Given the description of an element on the screen output the (x, y) to click on. 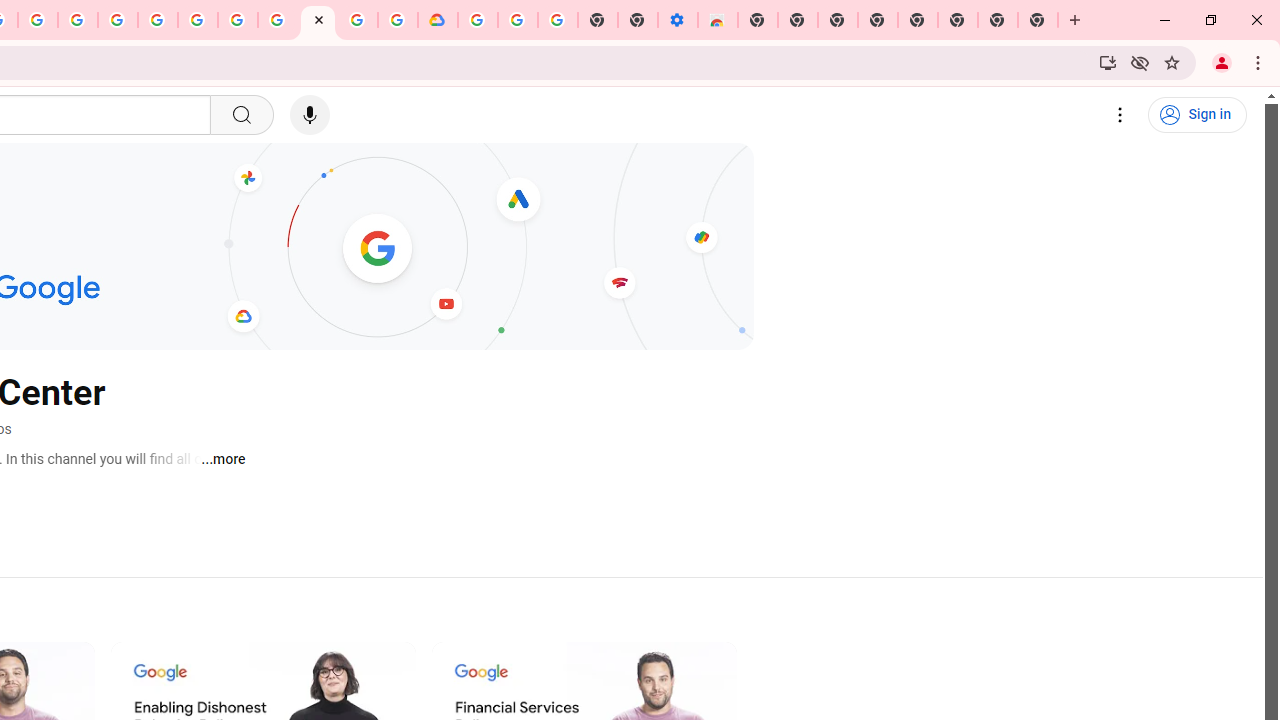
Settings - Accessibility (677, 20)
Ad Settings (118, 20)
Settings (1119, 115)
Third-party cookies blocked (1139, 62)
Turn cookies on or off - Computer - Google Account Help (557, 20)
Android TV Policies and Guidelines - Transparency Center (278, 20)
Chrome Web Store - Accessibility extensions (717, 20)
Browse the Google Chrome Community - Google Chrome Community (397, 20)
Sign in - Google Accounts (477, 20)
Sign in (1197, 115)
Sign in - Google Accounts (157, 20)
New Tab (1037, 20)
